Given the description of an element on the screen output the (x, y) to click on. 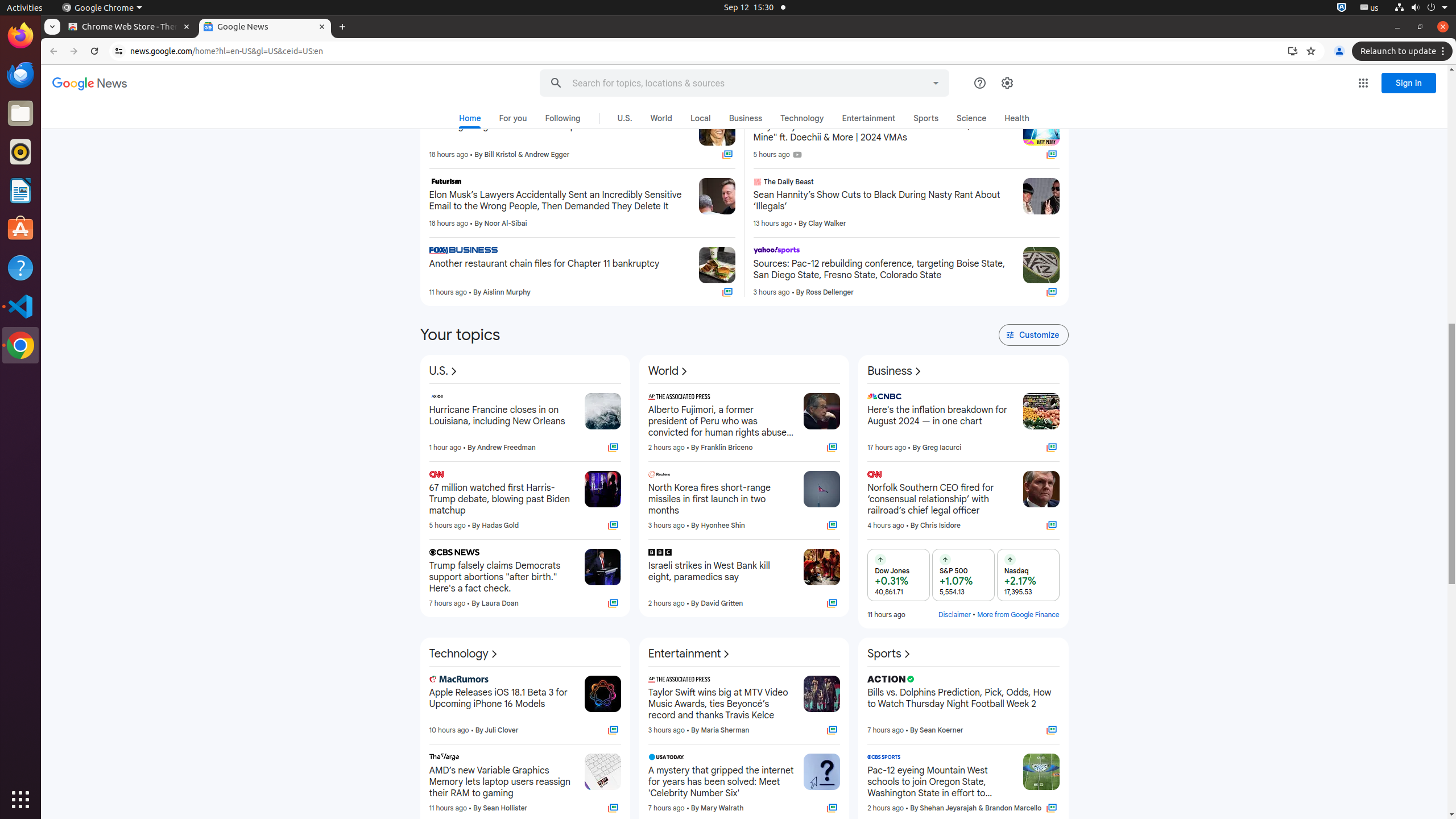
Search for topics, locations & sources Element type: combo-box (732, 82)
Customize Element type: push-button (1033, 334)
Following Element type: menu-item (562, 118)
World Element type: menu-item (661, 118)
Settings Element type: push-button (1006, 82)
